Given the description of an element on the screen output the (x, y) to click on. 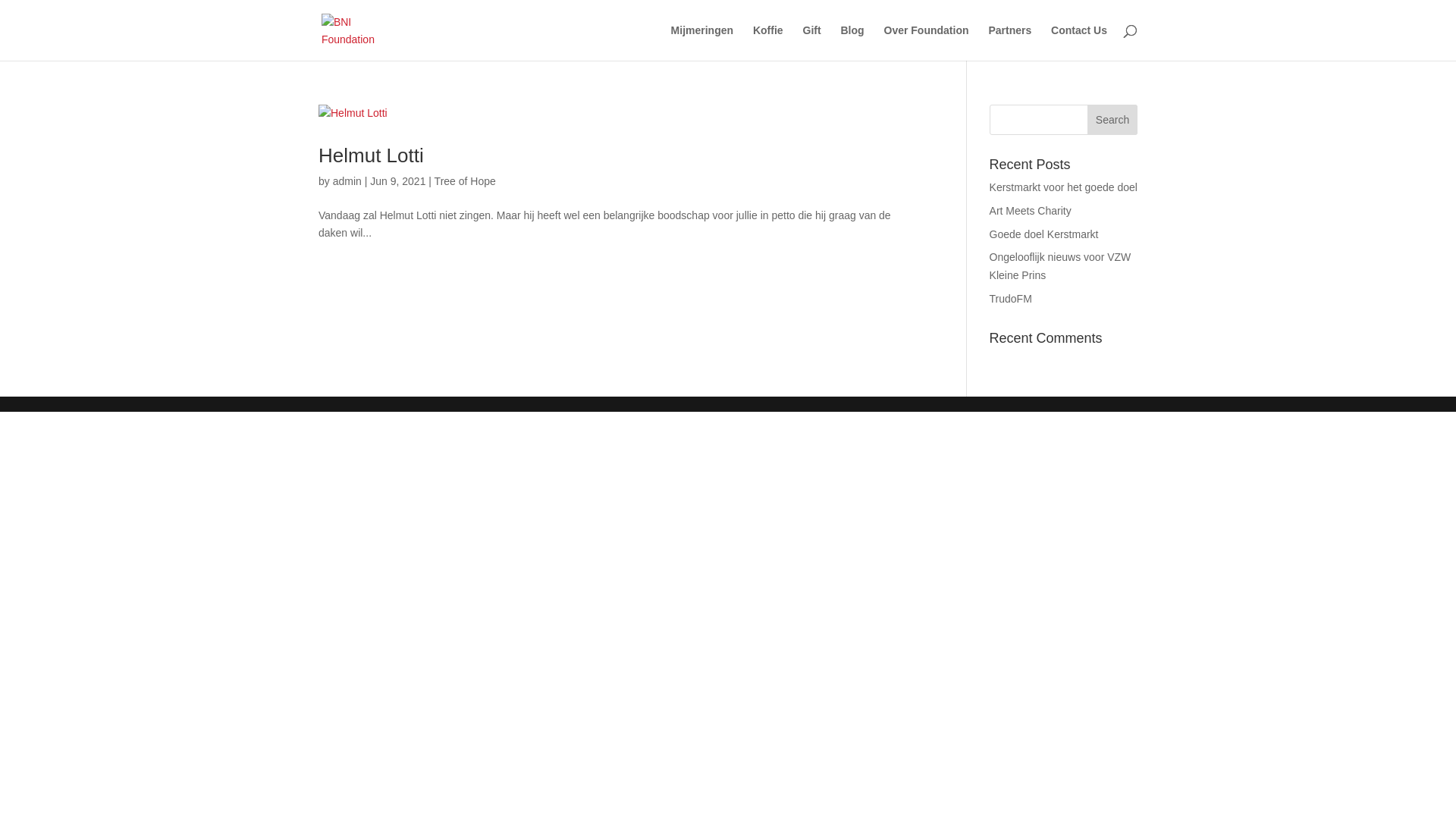
Kerstmarkt voor het goede doel Element type: text (1063, 187)
Helmut Lotti Element type: text (370, 155)
Koffie Element type: text (768, 42)
Partners Element type: text (1009, 42)
Gift Element type: text (811, 42)
Art Meets Charity Element type: text (1030, 210)
Over Foundation Element type: text (926, 42)
Mijmeringen Element type: text (702, 42)
admin Element type: text (346, 181)
Tree of Hope Element type: text (464, 181)
Search Element type: text (1112, 119)
Goede doel Kerstmarkt Element type: text (1043, 234)
Blog Element type: text (851, 42)
TrudoFM Element type: text (1010, 298)
Ongelooflijk nieuws voor VZW Kleine Prins Element type: text (1060, 266)
Contact Us Element type: text (1079, 42)
